Given the description of an element on the screen output the (x, y) to click on. 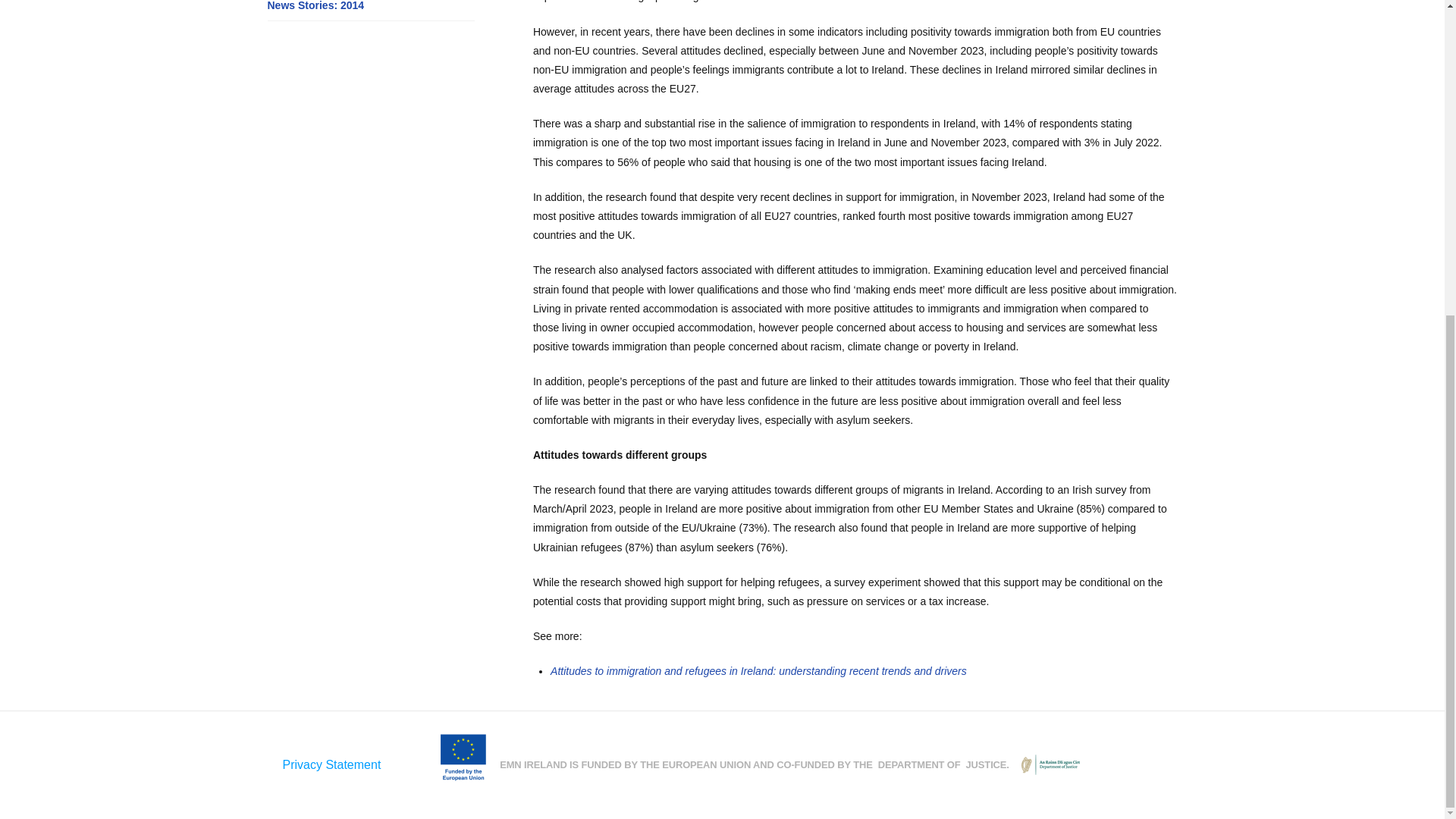
News Stories: 2014 (315, 6)
Privacy Statement (331, 764)
